Given the description of an element on the screen output the (x, y) to click on. 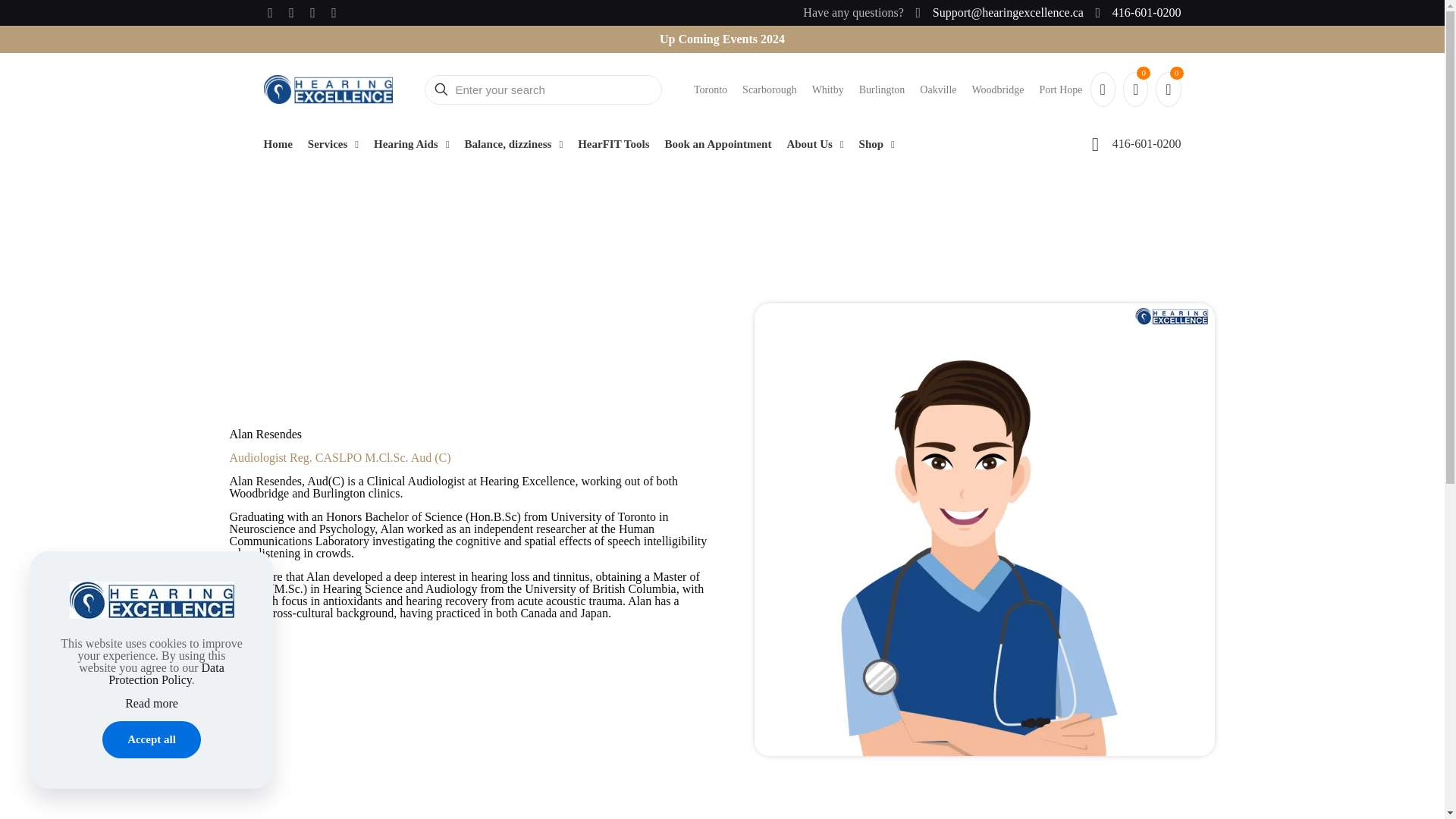
Up Coming Events 2024 (615, 38)
Oakville (938, 90)
Burlington (882, 90)
416-601-0200 (1135, 12)
Woodbridge (998, 90)
Port Hope (1060, 90)
Scarborough (769, 90)
Home (277, 143)
Whitby (828, 90)
Services (332, 143)
